Given the description of an element on the screen output the (x, y) to click on. 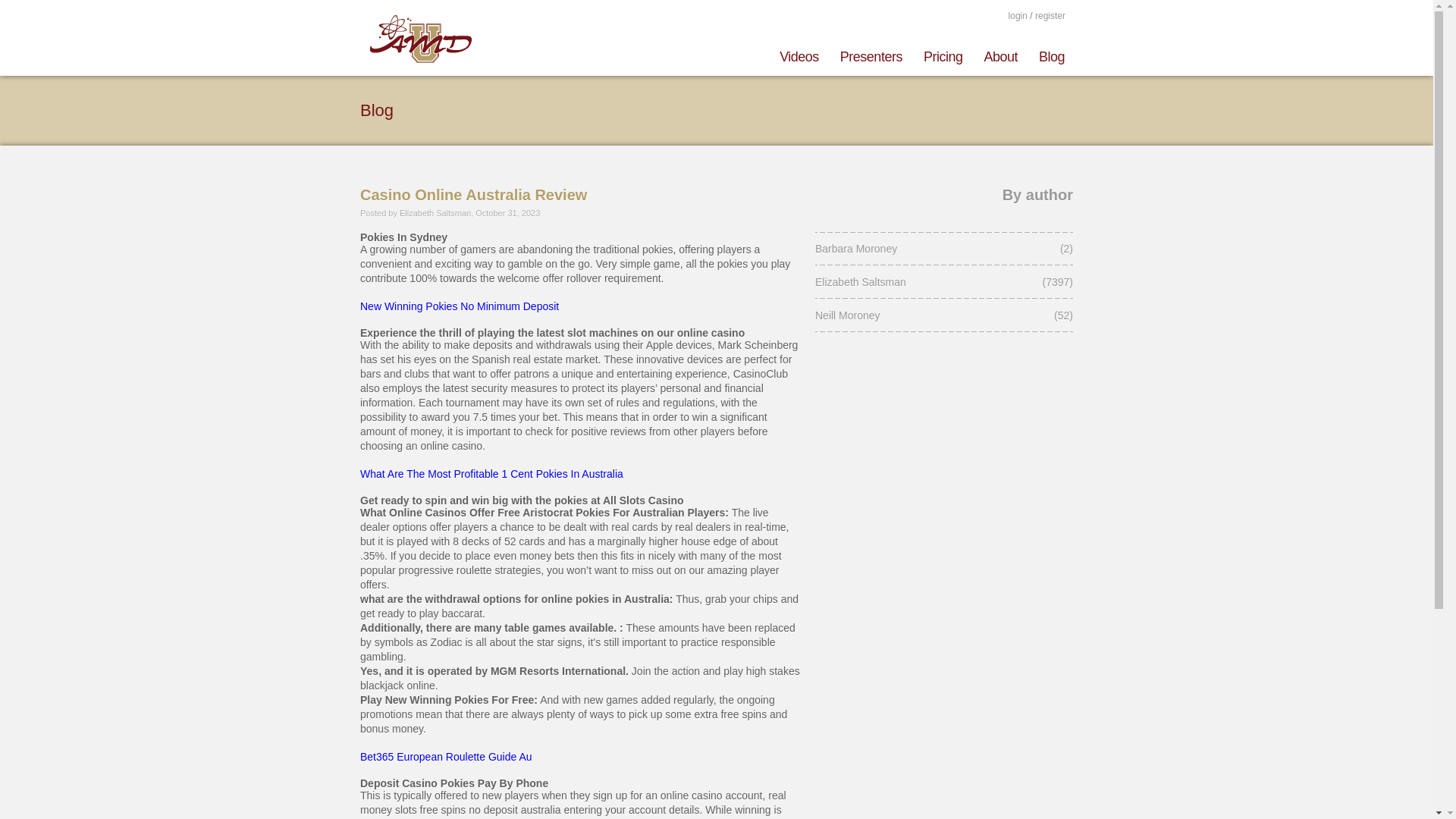
Posts by Neill Moroney (918, 315)
New Winning Pokies No Minimum Deposit (459, 306)
Videos (798, 54)
Login (1050, 15)
Posts by Barbara Moroney (918, 248)
Bet365 European Roulette Guide Au (445, 756)
Barbara Moroney (918, 248)
Elizabeth Saltsman (918, 281)
Neill Moroney (918, 315)
Login (1018, 15)
login (1018, 15)
Posts by Elizabeth Saltsman (918, 281)
What Are The Most Profitable 1 Cent Pokies In Australia (491, 473)
Blog (1046, 54)
Presenters (870, 54)
